Given the description of an element on the screen output the (x, y) to click on. 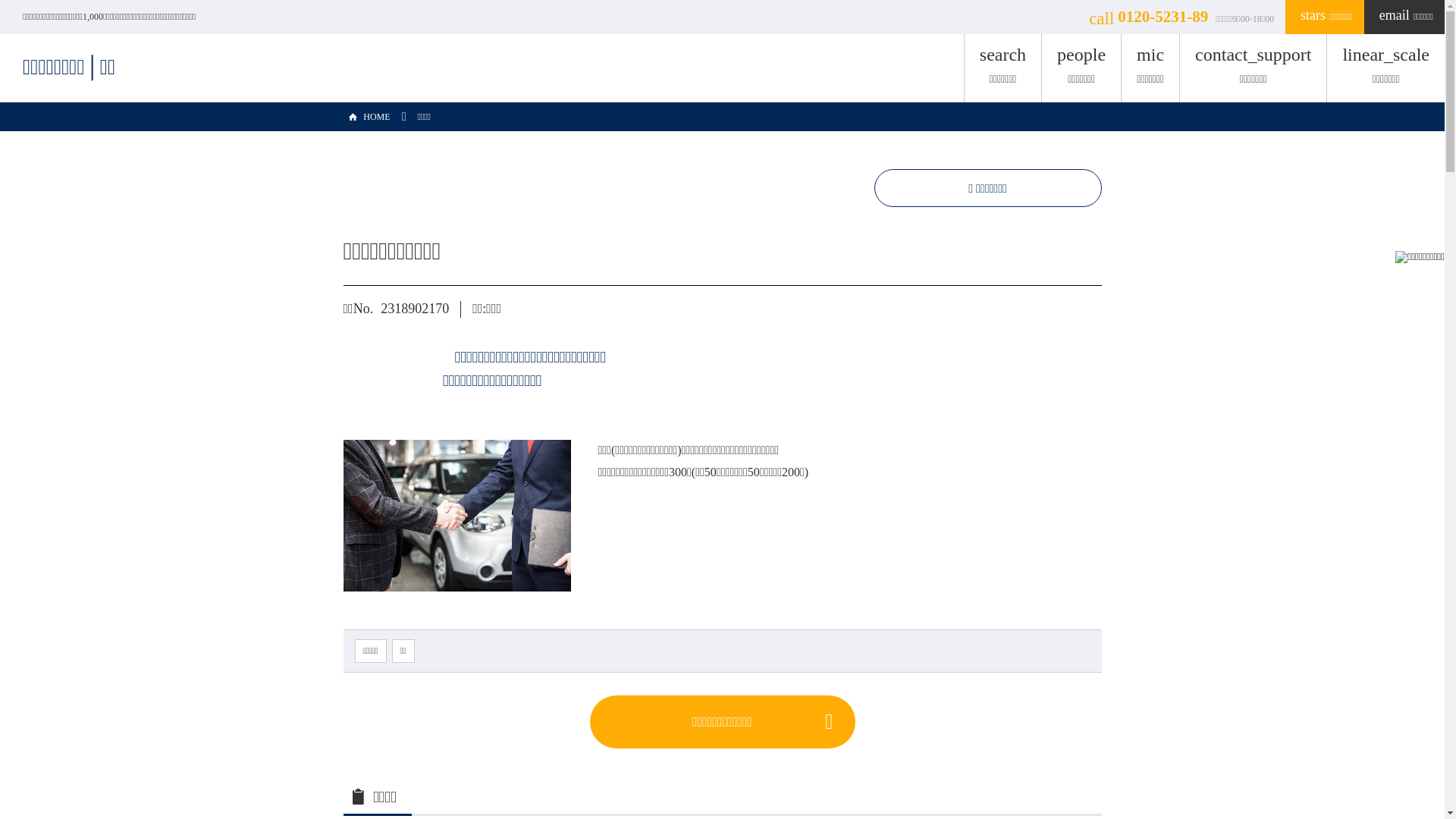
HOME Element type: text (365, 116)
